Given the description of an element on the screen output the (x, y) to click on. 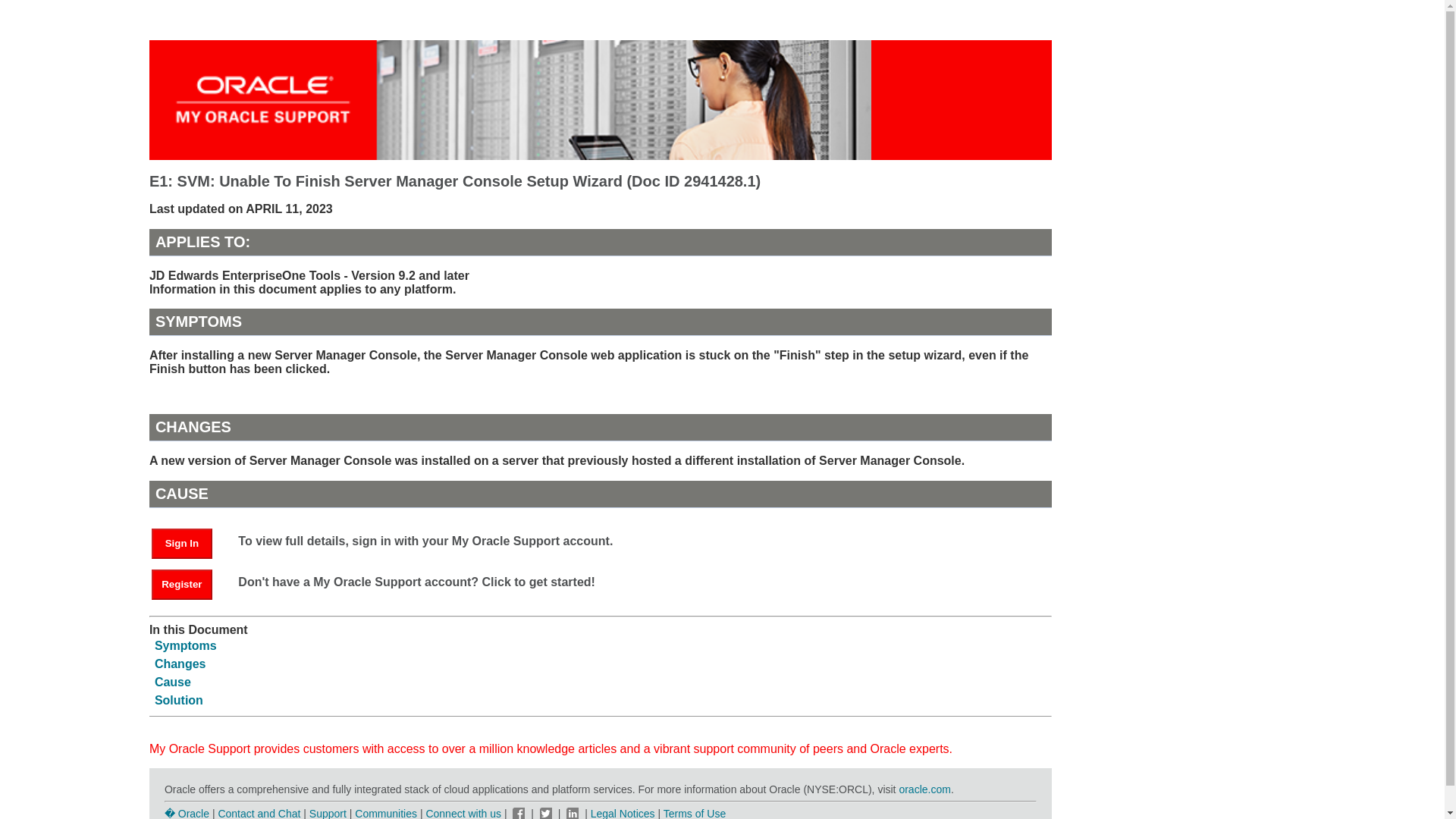
Changes (180, 663)
Cause (172, 681)
Support (327, 813)
Terms of Use (694, 813)
Communities (385, 813)
Register (181, 584)
Sign In (189, 542)
Symptoms (185, 645)
Legal Notices (623, 813)
Connect with us (464, 813)
